Given the description of an element on the screen output the (x, y) to click on. 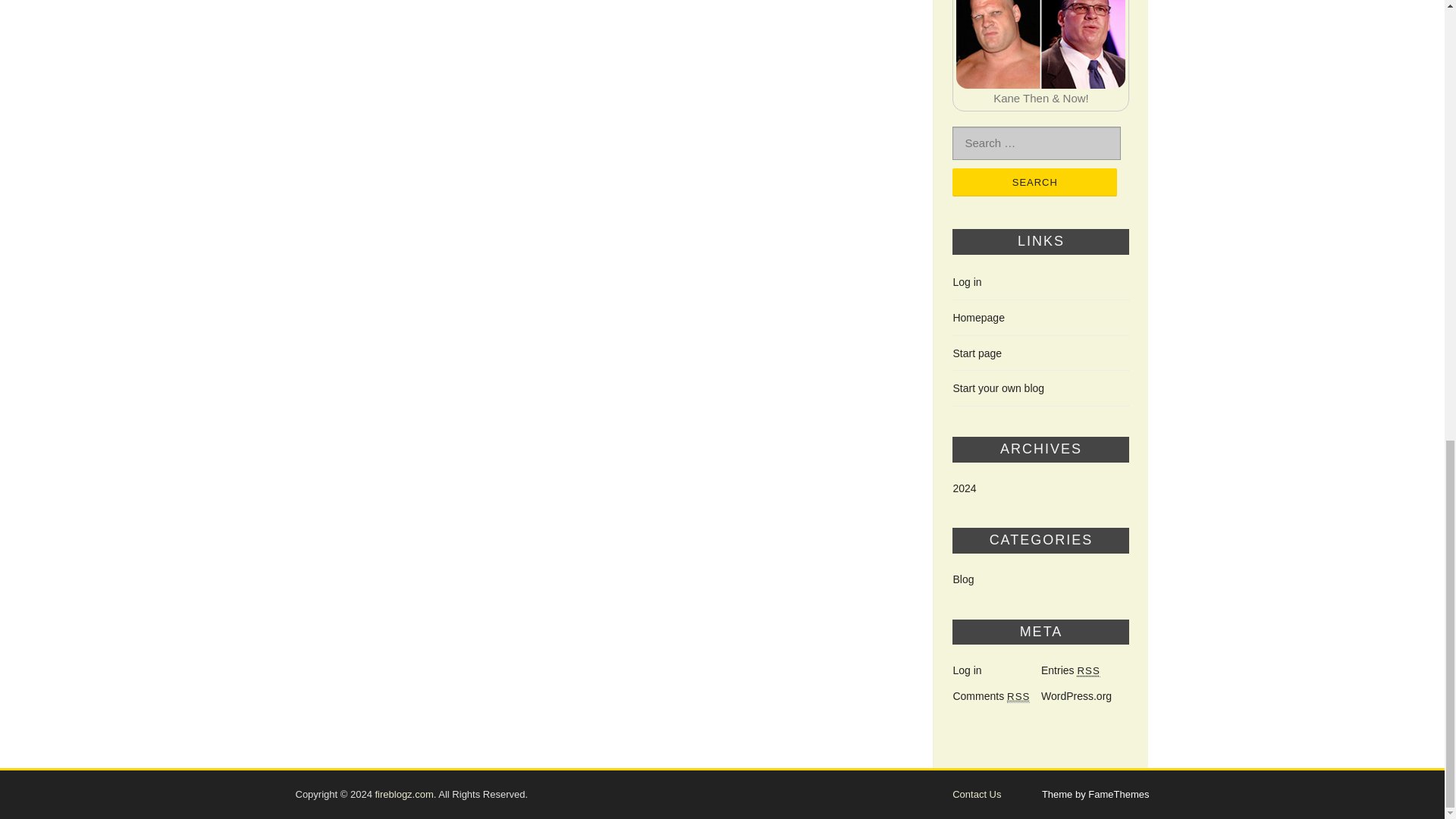
2024 (963, 488)
Log in (966, 282)
Blog (963, 579)
Log in (966, 670)
Search (1034, 182)
Comments RSS (990, 695)
Contact Us (976, 794)
WordPress.org (1076, 695)
Really Simple Syndication (1018, 696)
fireblogz.com (403, 794)
Really Simple Syndication (1088, 671)
Entries RSS (1070, 670)
Search (1034, 182)
Homepage (978, 317)
